Given the description of an element on the screen output the (x, y) to click on. 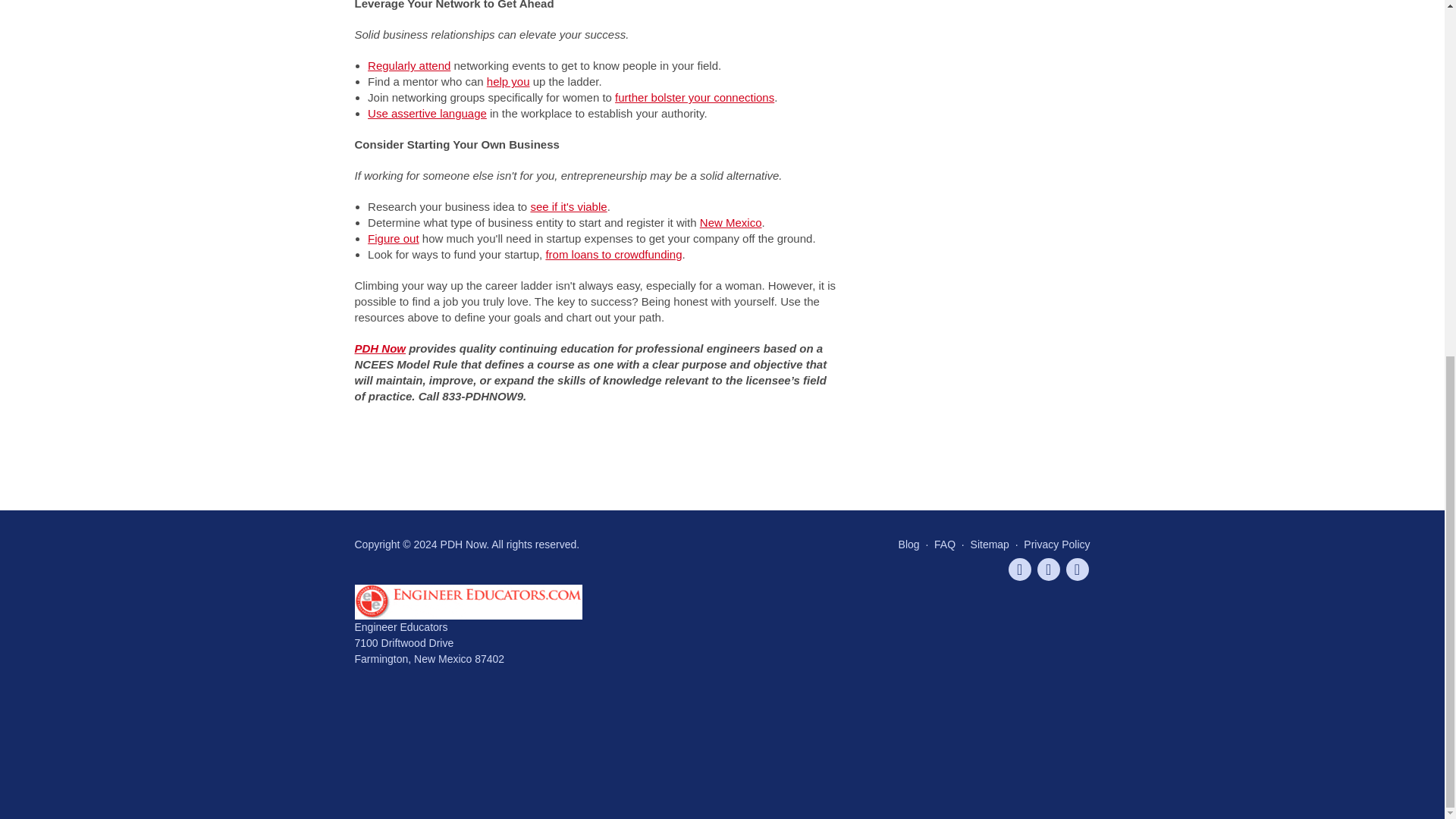
PDH Now (380, 348)
New Mexico (730, 222)
Blog on Medium (1077, 568)
further bolster your connections (694, 97)
Twitter (1019, 568)
Frequently Asked Questions (944, 544)
Use assertive language (427, 113)
from loans to crowdfunding (612, 254)
Blog (909, 544)
Facebook (1047, 568)
